Given the description of an element on the screen output the (x, y) to click on. 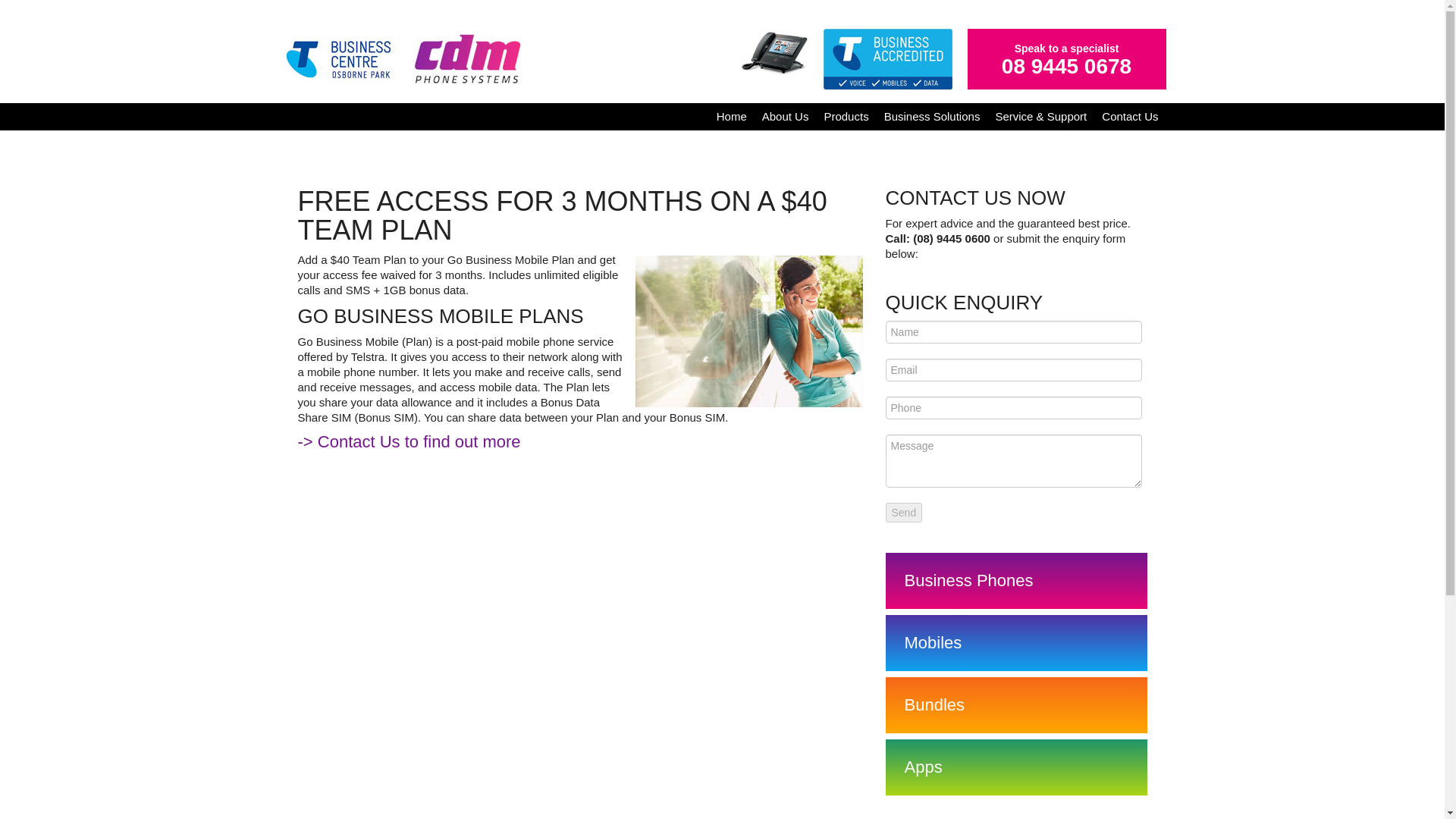
Phone Systems Perth - Bundles Link (1016, 705)
Send (904, 512)
Contact Us (1130, 116)
Phone Systems Perth - Mobiles Link (1016, 642)
Phone Systems Perth - Apps Link (1016, 767)
Business Phones (1016, 580)
Phone Systems Perth Handset - Header Image (773, 51)
Contact Phone Systems Perth (1016, 224)
Home (731, 116)
Bundles (1016, 705)
